Given the description of an element on the screen output the (x, y) to click on. 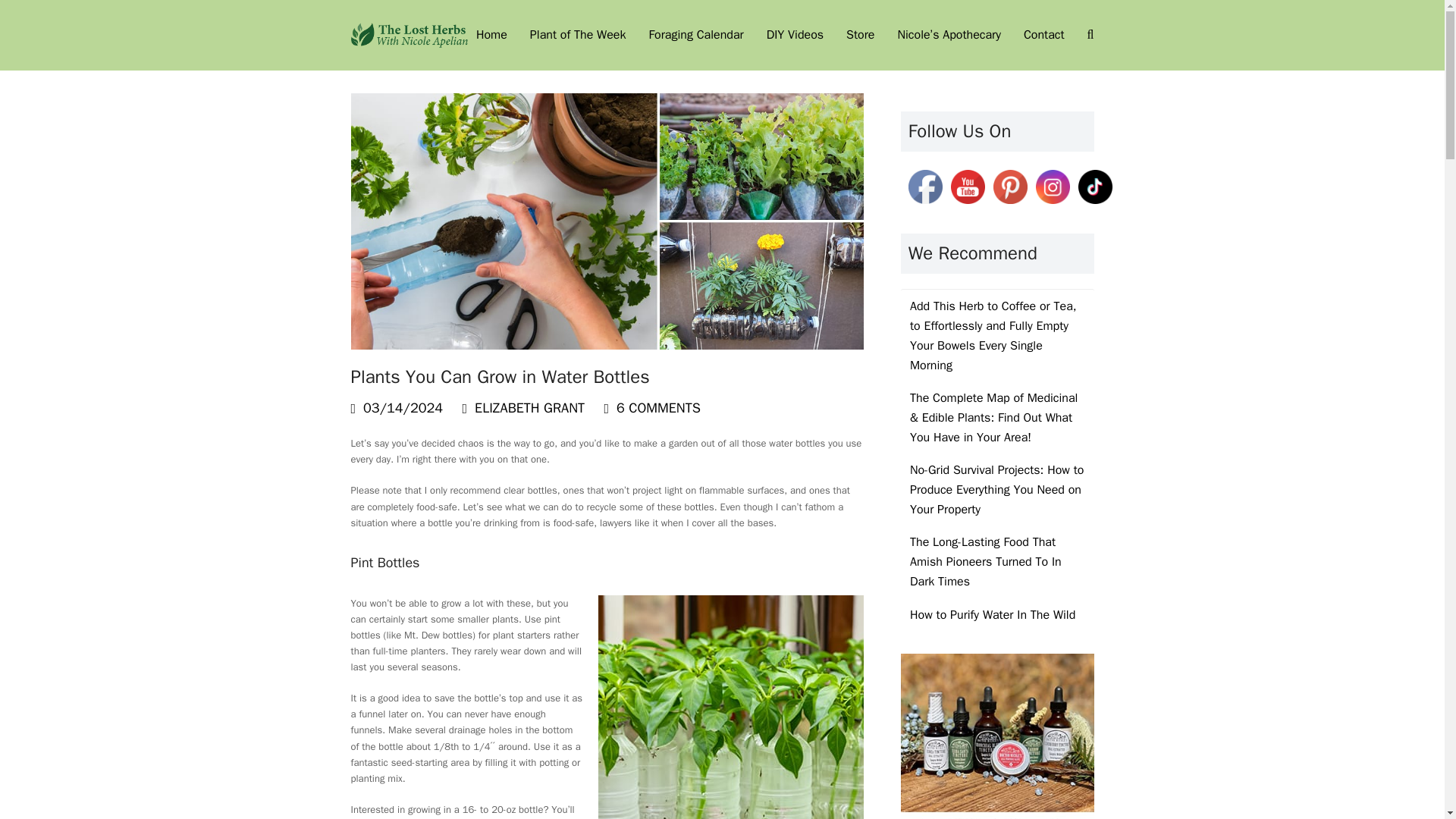
Contact (1043, 35)
Foraging Calendar (695, 35)
Store (859, 35)
6 COMMENTS (657, 408)
Posts by Elizabeth Grant (529, 407)
Home (491, 35)
6 COMMENTS (652, 408)
DIY Videos (794, 35)
ELIZABETH GRANT (529, 407)
Plant of The Week (577, 35)
